Given the description of an element on the screen output the (x, y) to click on. 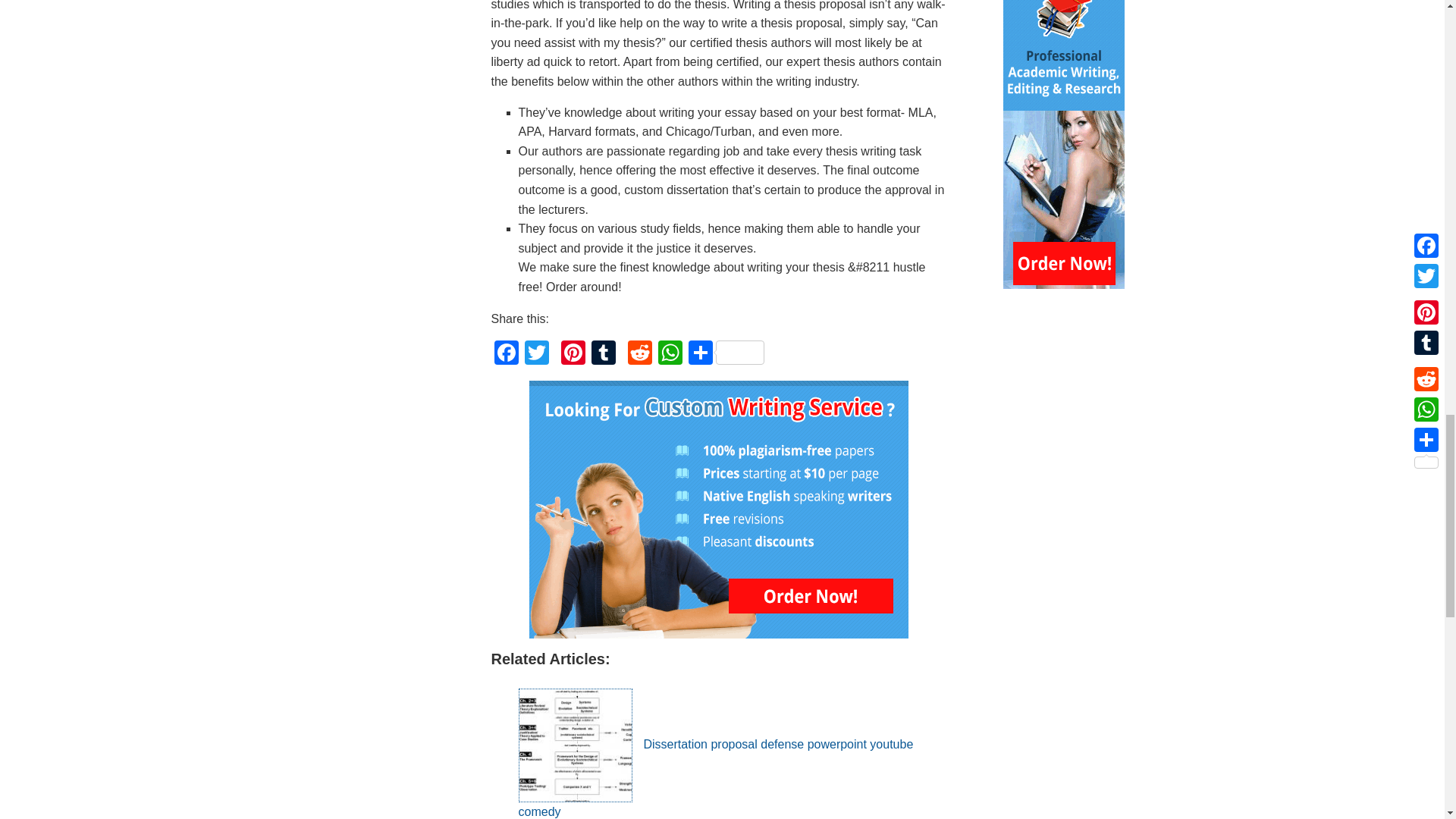
Dissertation proposal defense powerpoint youtube comedy (716, 777)
WhatsApp (670, 354)
Facebook (506, 354)
Twitter (536, 354)
Reddit (639, 354)
Pinterest (572, 354)
Tumblr (603, 354)
